Given the description of an element on the screen output the (x, y) to click on. 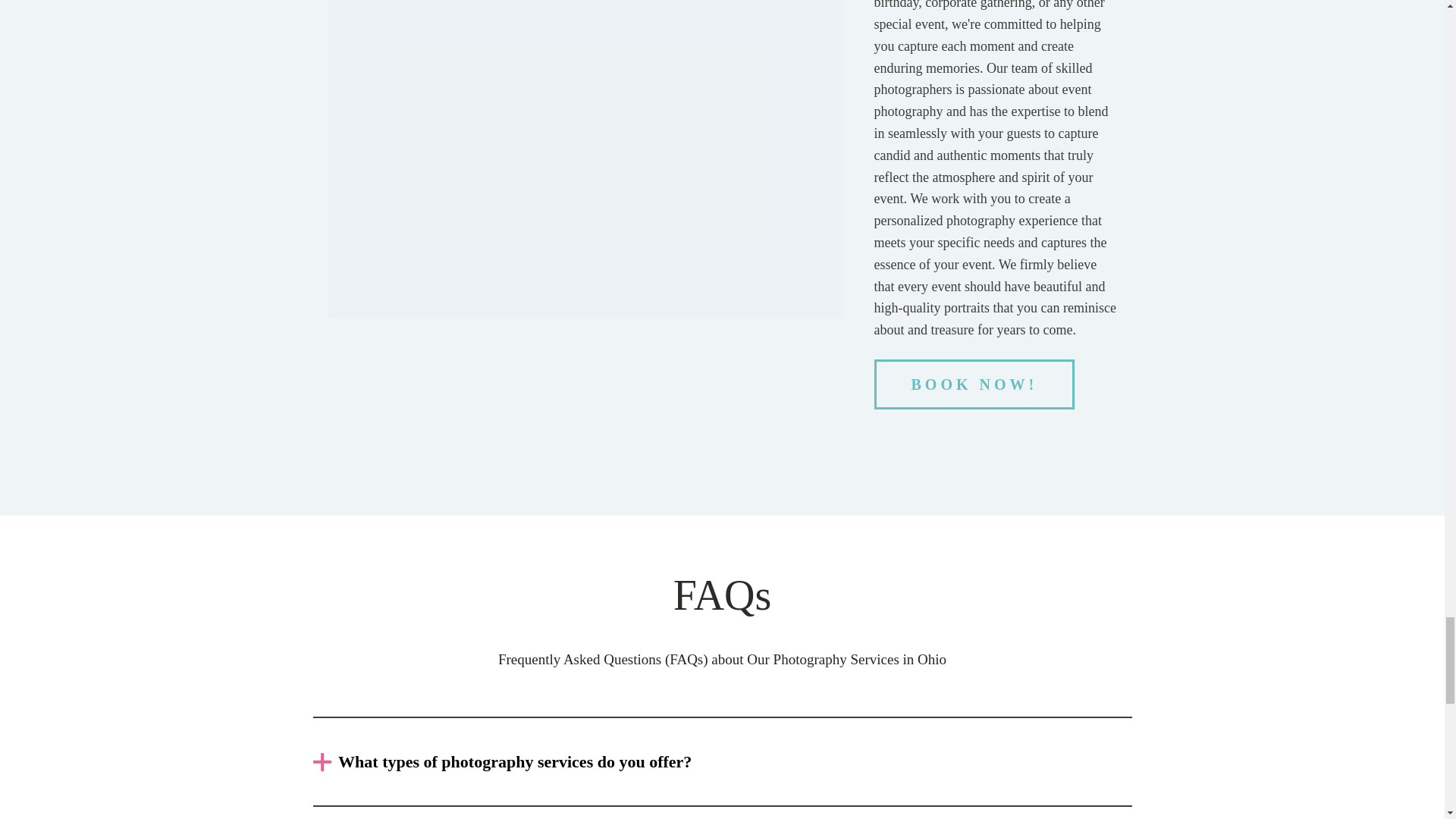
BOOK NOW! (975, 384)
